Given the description of an element on the screen output the (x, y) to click on. 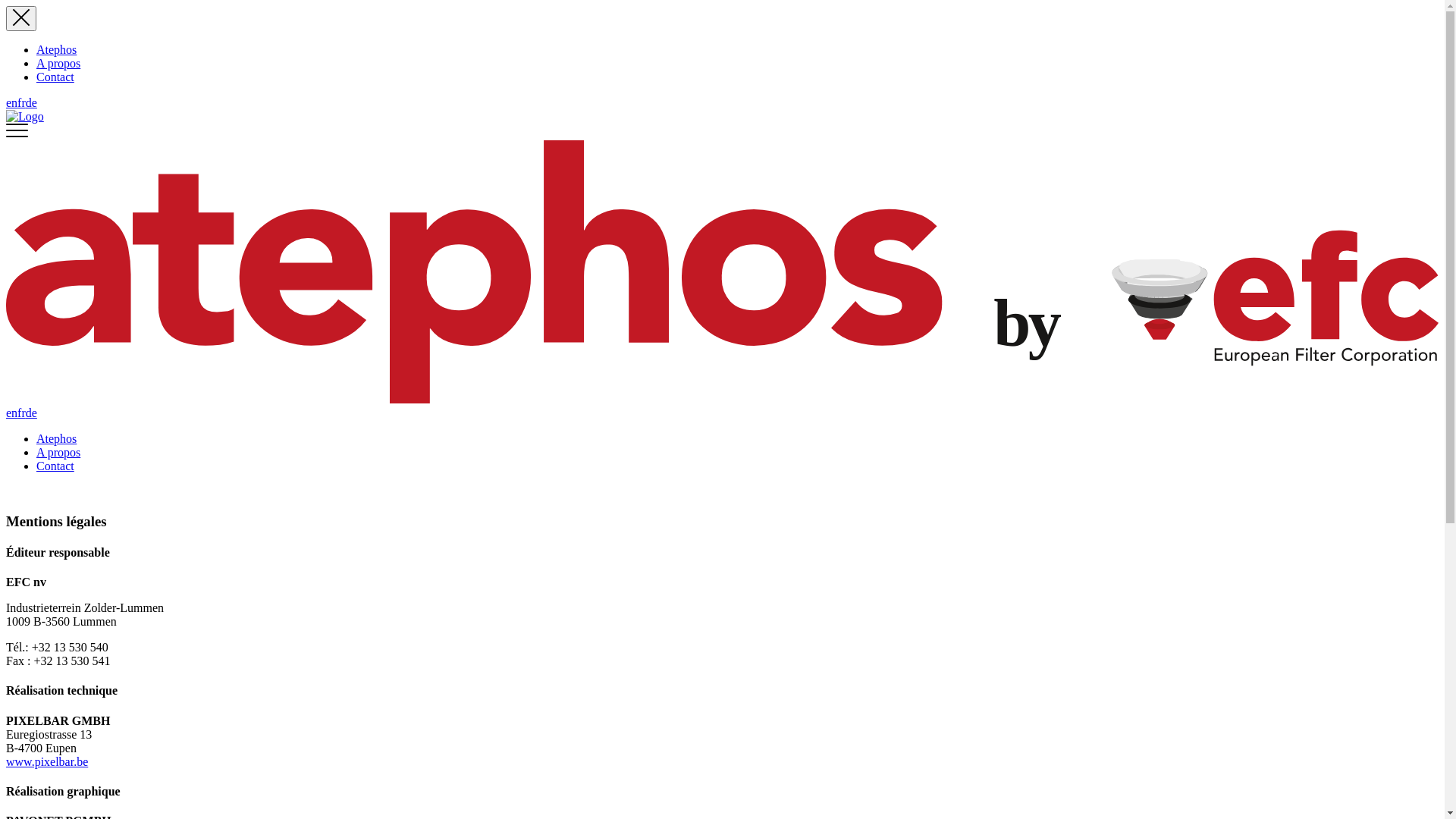
en Element type: text (11, 102)
A propos Element type: text (58, 451)
de Element type: text (31, 412)
fr Element type: text (21, 102)
Atephos Element type: text (56, 49)
en Element type: text (11, 412)
A propos Element type: text (58, 62)
Contact Element type: text (55, 76)
www.pixelbar.be Element type: text (46, 761)
de Element type: text (31, 102)
Atephos Element type: text (56, 438)
fr Element type: text (21, 412)
Contact Element type: text (55, 465)
